Given the description of an element on the screen output the (x, y) to click on. 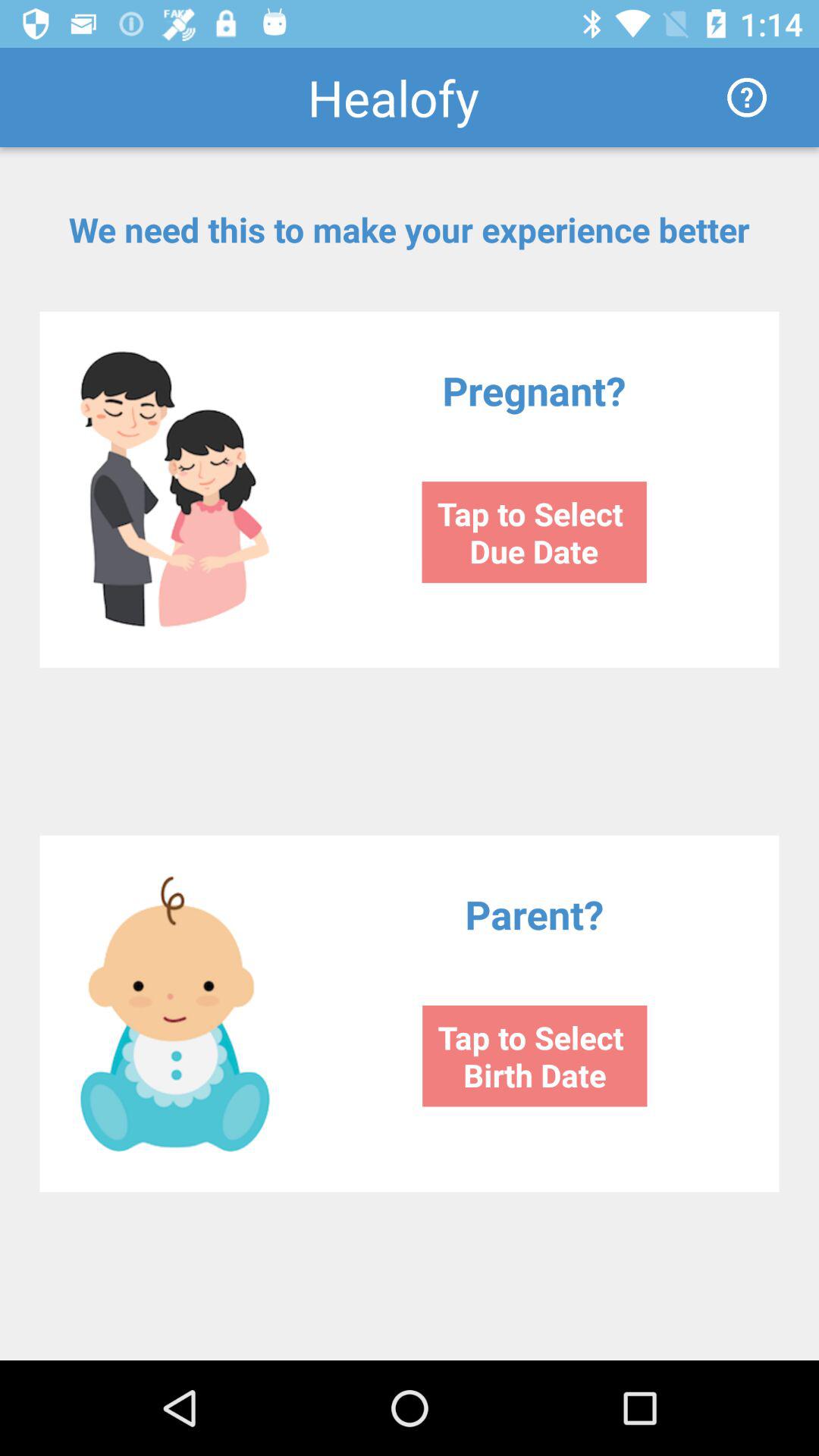
help (746, 97)
